Given the description of an element on the screen output the (x, y) to click on. 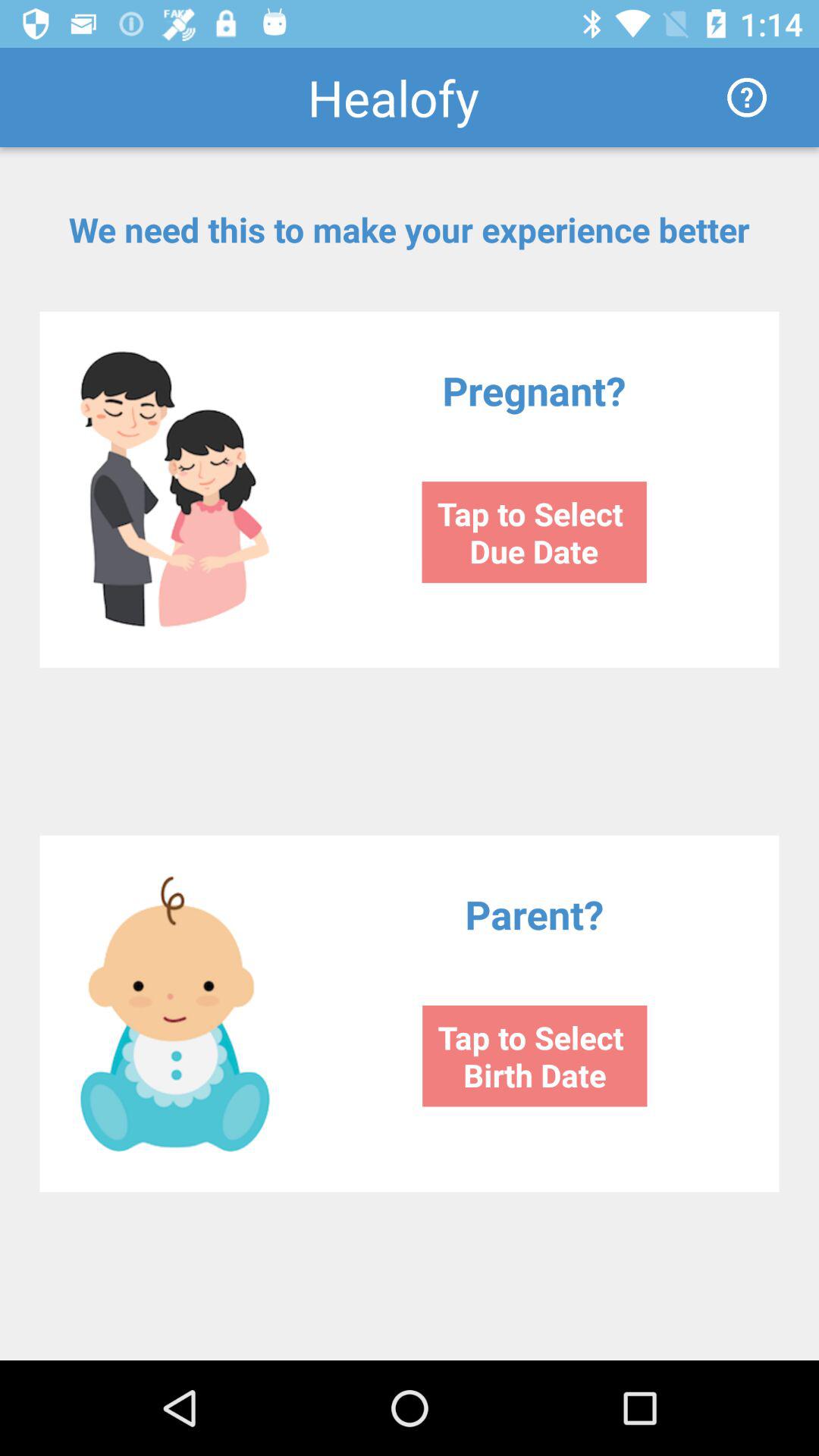
help (746, 97)
